Given the description of an element on the screen output the (x, y) to click on. 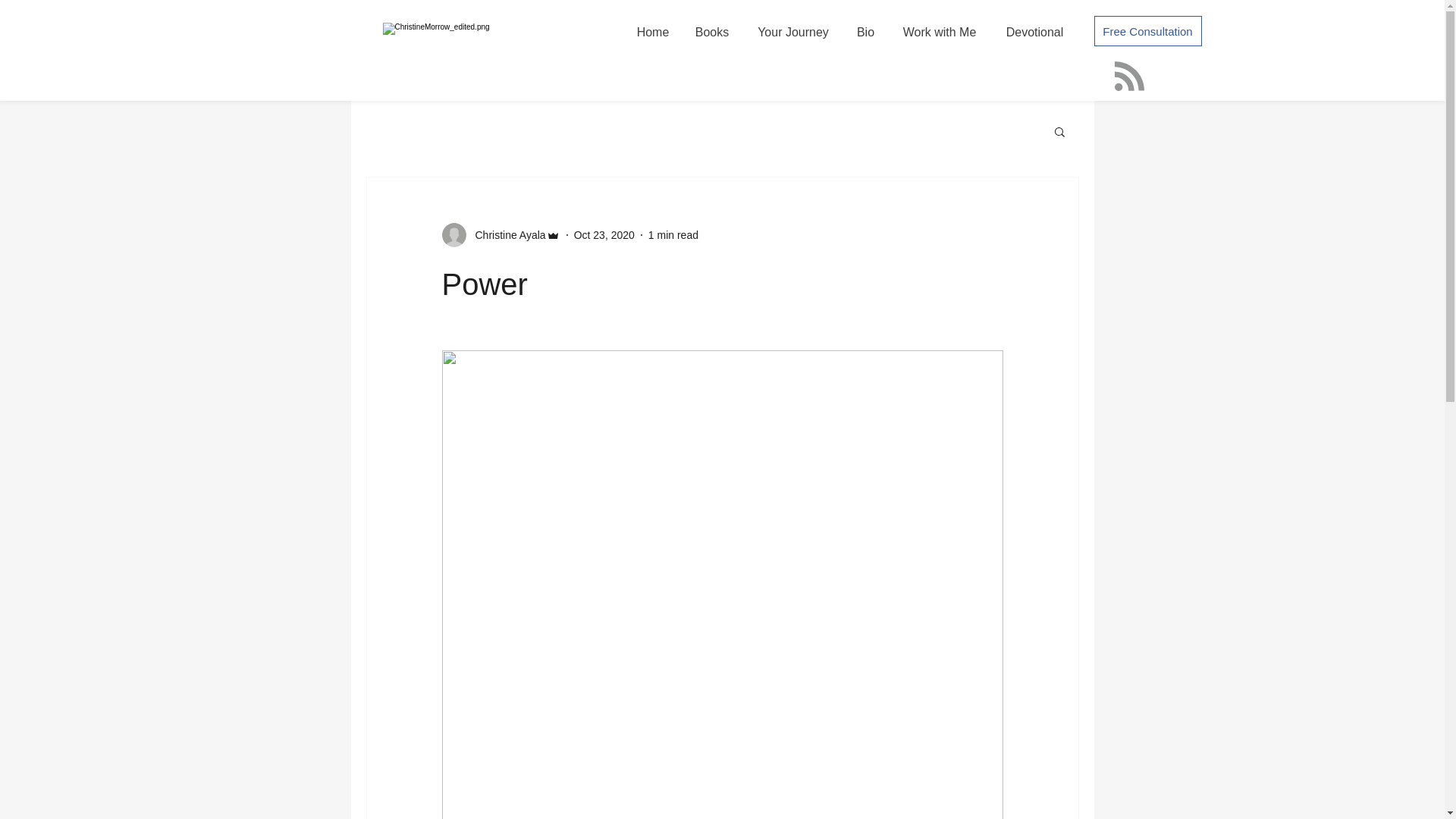
Oct 23, 2020 (603, 234)
Work with Me (939, 31)
Christine Ayala (504, 235)
Bio (865, 31)
Books (712, 31)
Free Consultation (1147, 30)
Your Journey (792, 31)
1 min read (672, 234)
Devotional (1034, 31)
Home (652, 31)
